Given the description of an element on the screen output the (x, y) to click on. 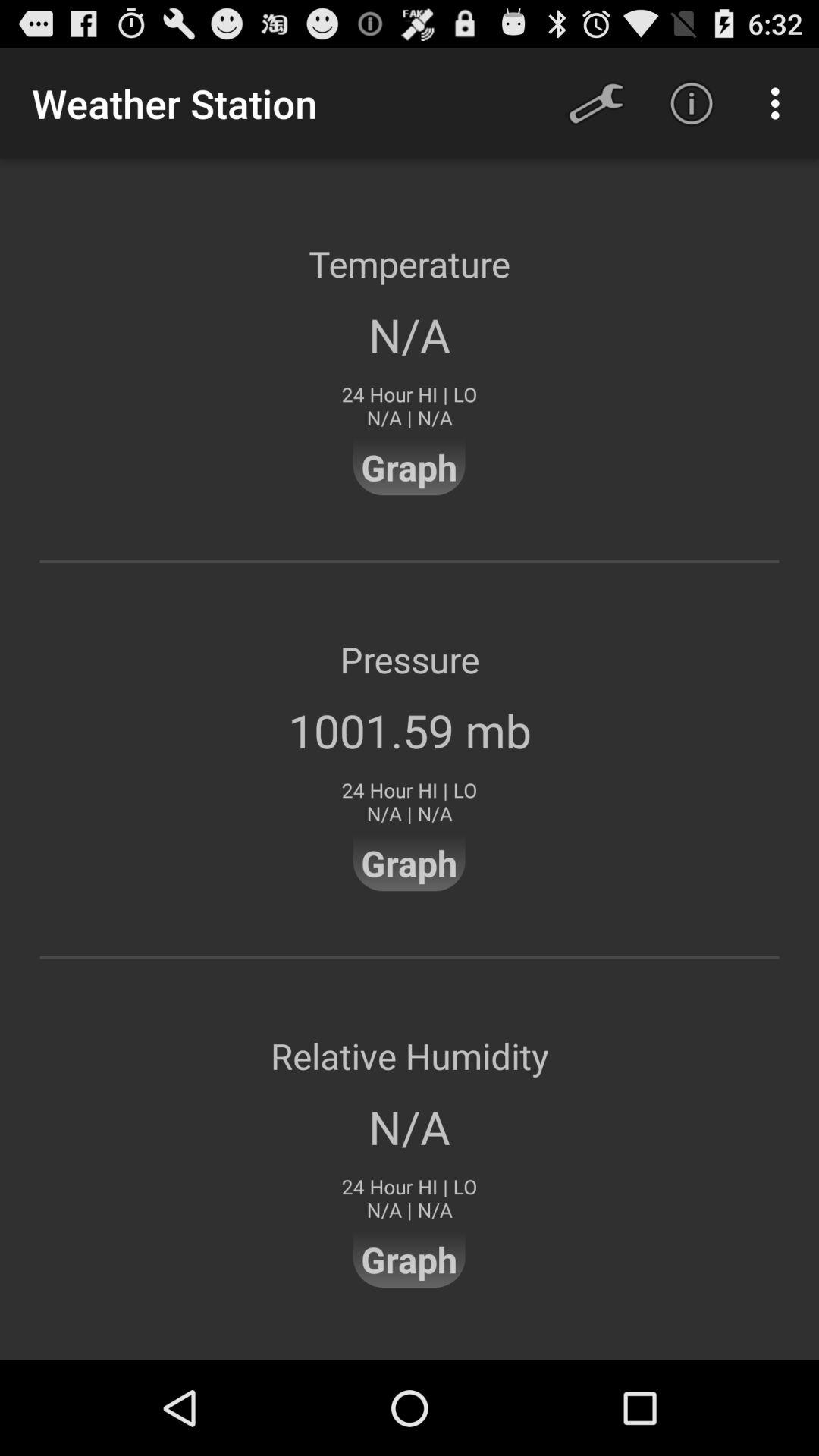
tap the item next to weather station item (595, 103)
